Given the description of an element on the screen output the (x, y) to click on. 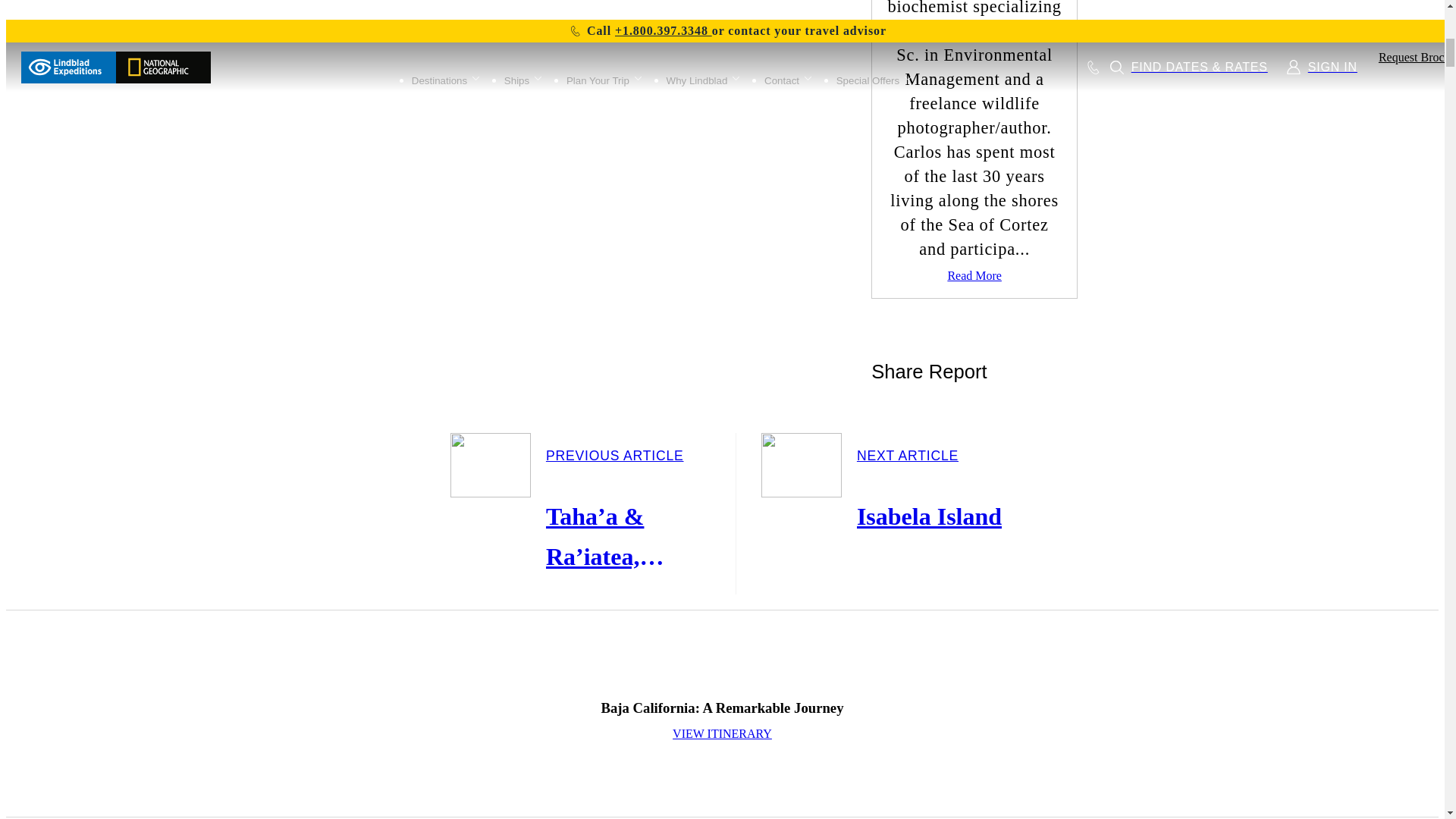
Report (973, 324)
